Given the description of an element on the screen output the (x, y) to click on. 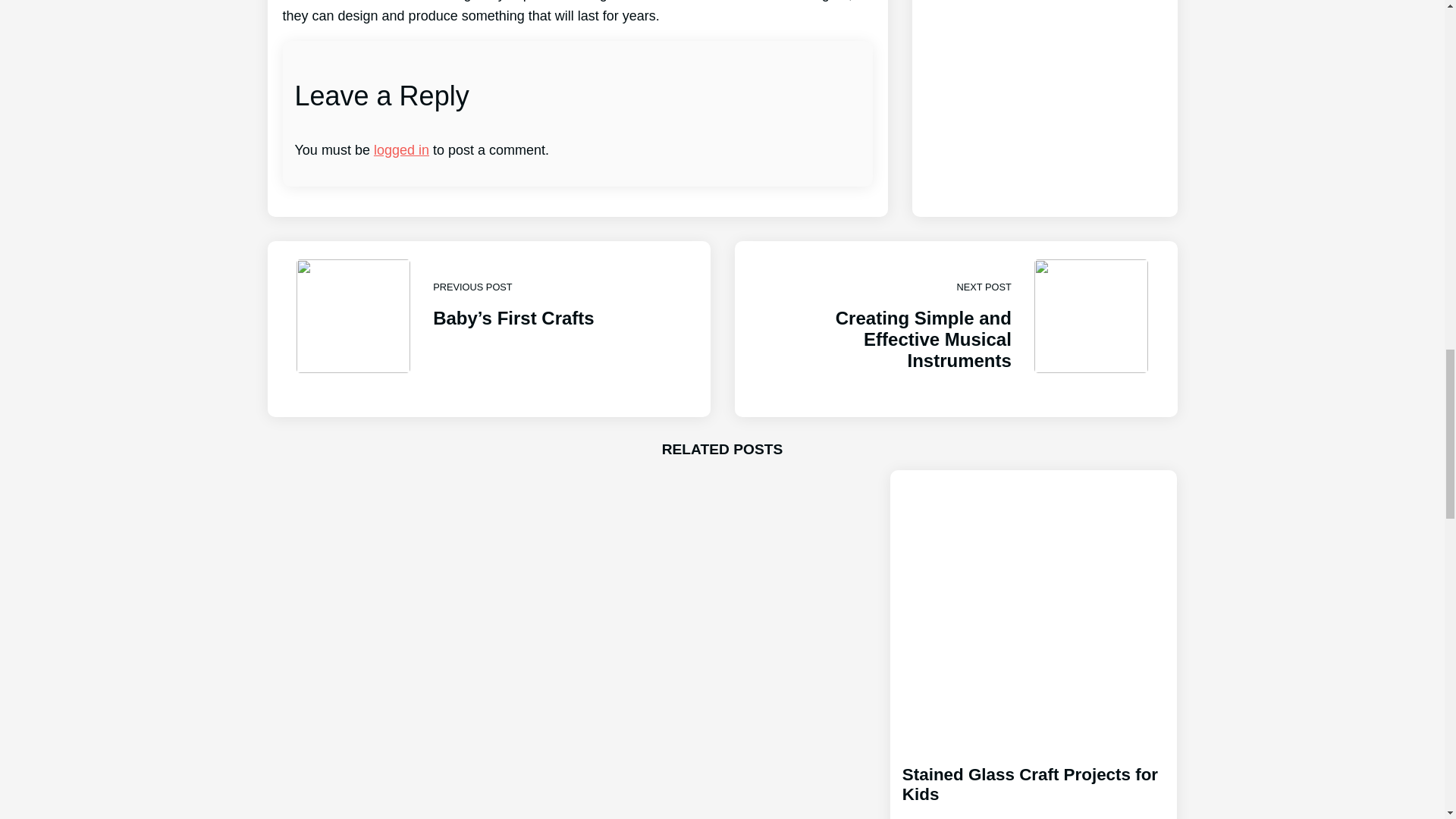
Stained Glass Craft Projects for Kids (1034, 778)
logged in (954, 328)
